Given the description of an element on the screen output the (x, y) to click on. 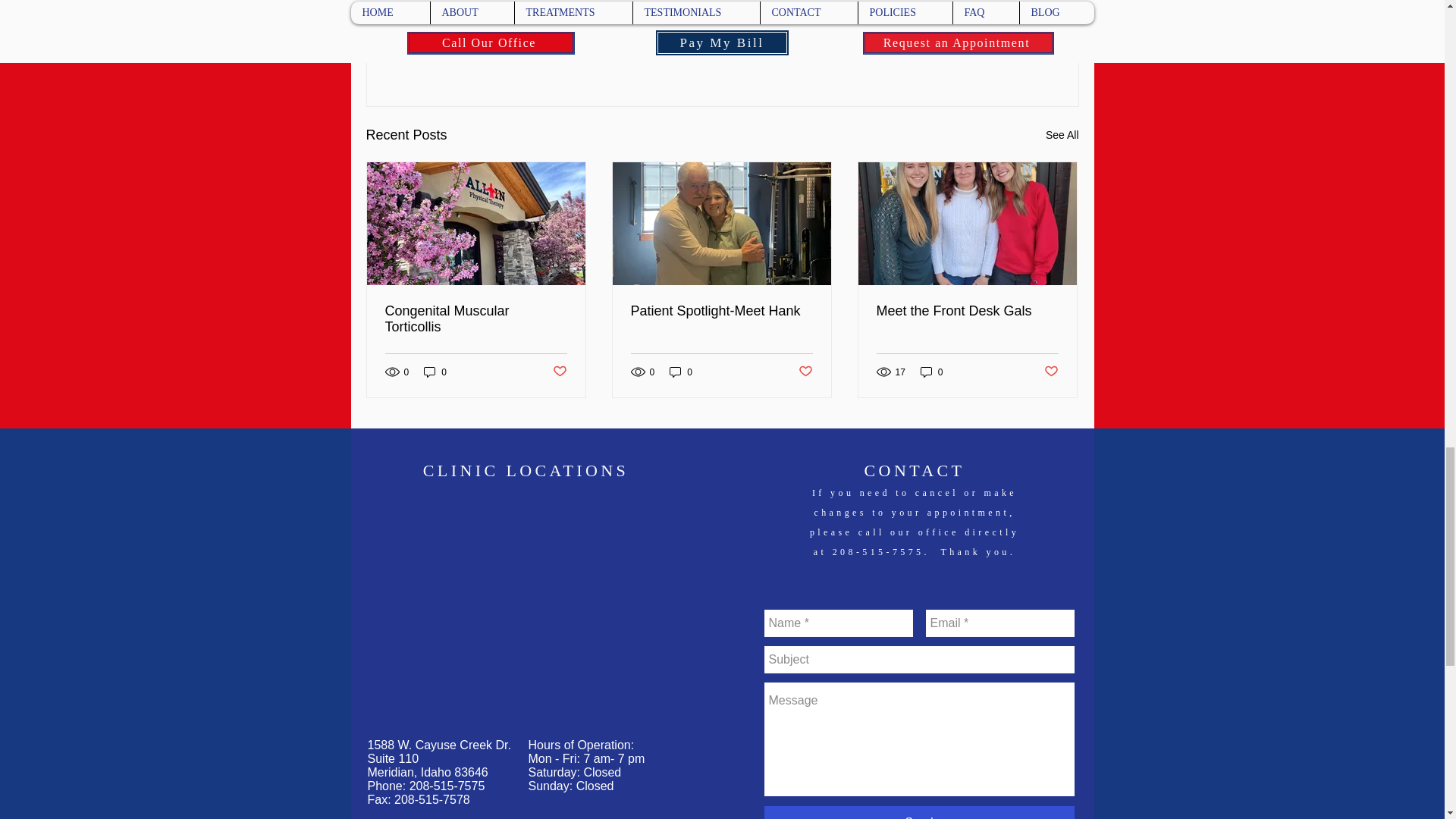
Post not marked as liked (558, 371)
Post not marked as liked (1050, 371)
0 (681, 371)
0 (435, 371)
Post not marked as liked (995, 52)
Patient Spotlight-Meet Hank (721, 311)
0 (931, 371)
Post not marked as liked (804, 371)
See All (1061, 135)
Send (919, 812)
